Given the description of an element on the screen output the (x, y) to click on. 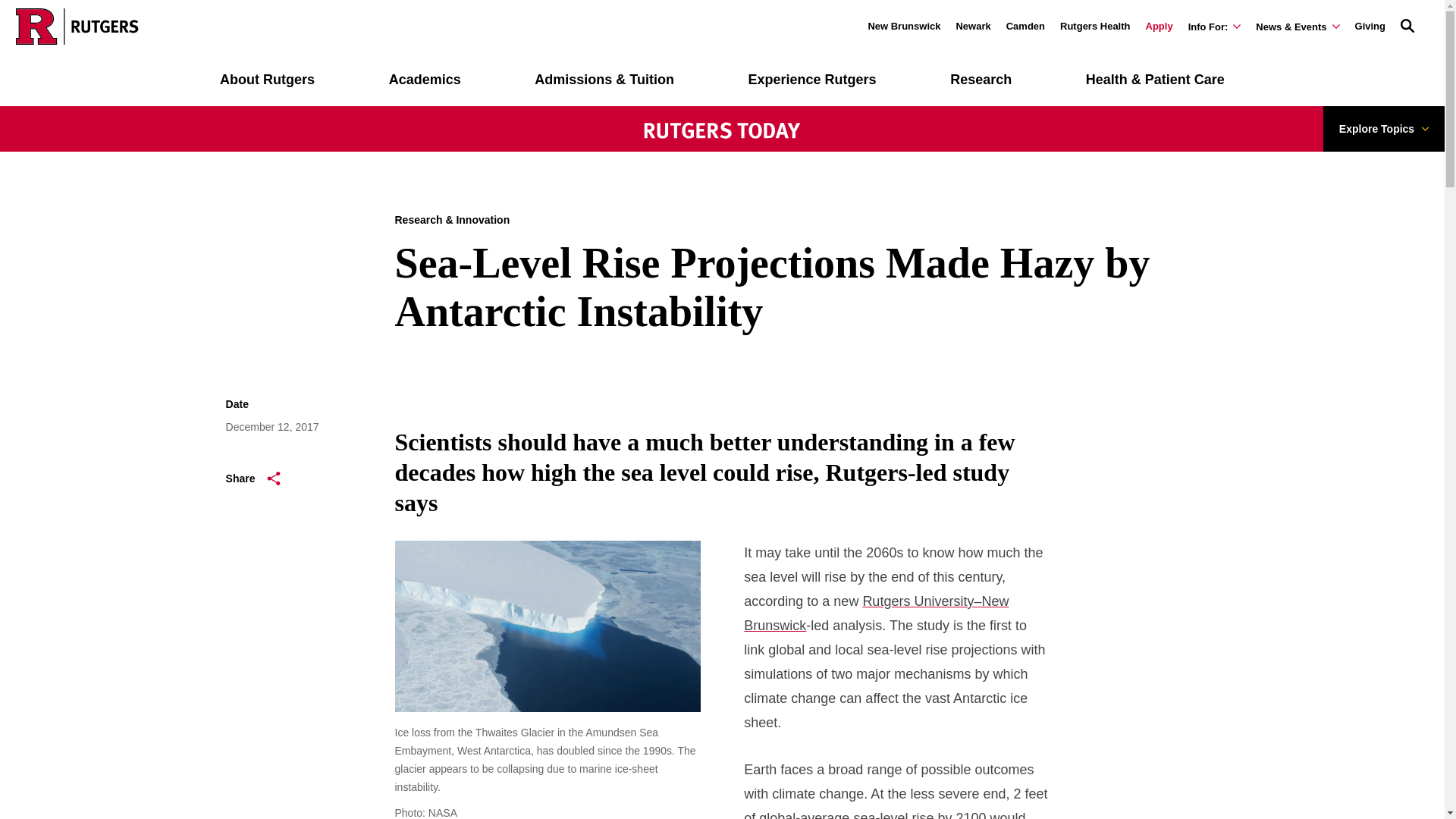
Camden (1025, 26)
Giving (1370, 26)
Newark (972, 26)
Info For: (1214, 26)
Academics (424, 79)
Open Search (1406, 24)
Rutgers Health (1094, 26)
About Rutgers (266, 79)
New Brunswick (903, 26)
